Given the description of an element on the screen output the (x, y) to click on. 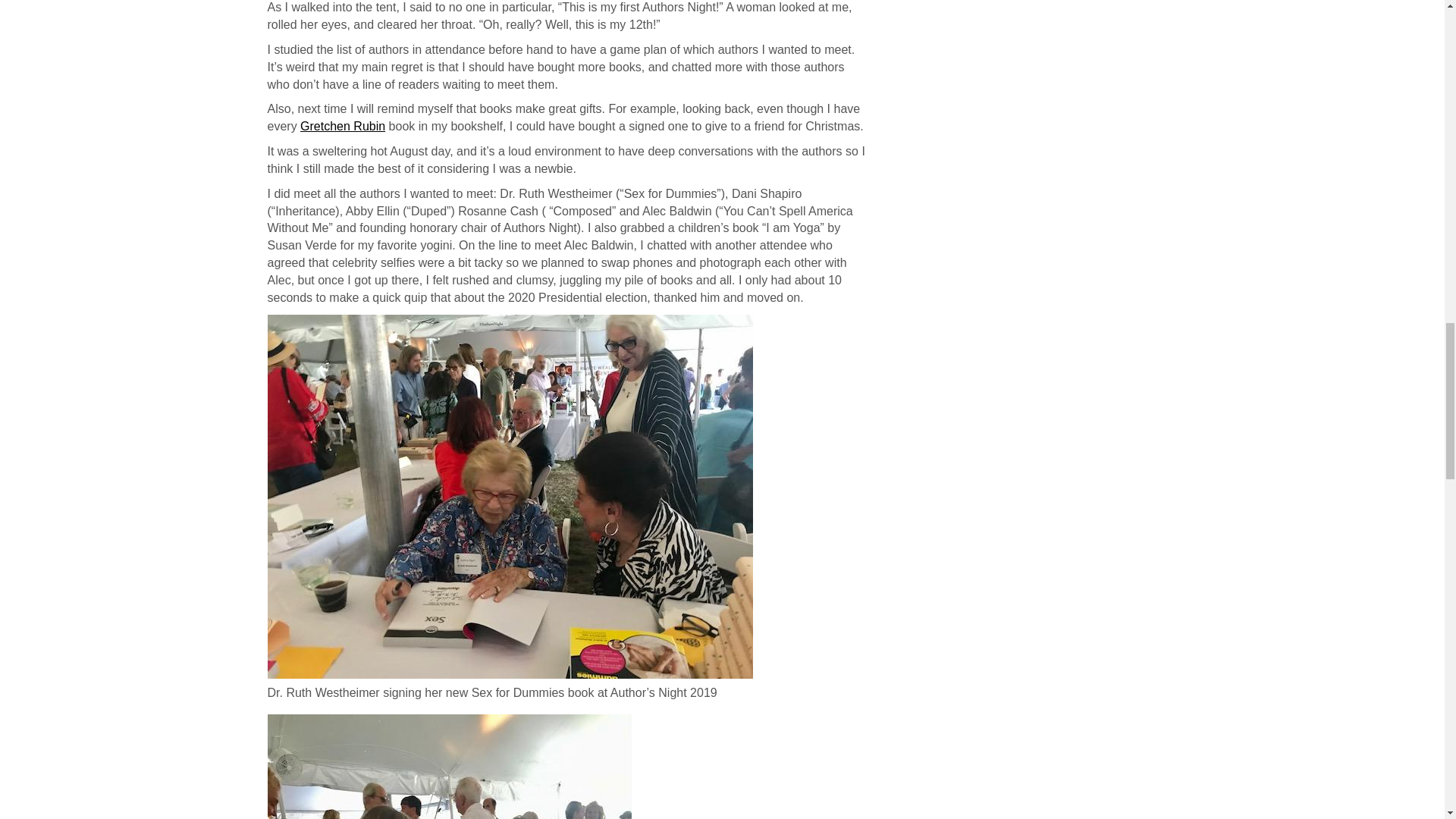
Gretchen Rubin (342, 125)
